Given the description of an element on the screen output the (x, y) to click on. 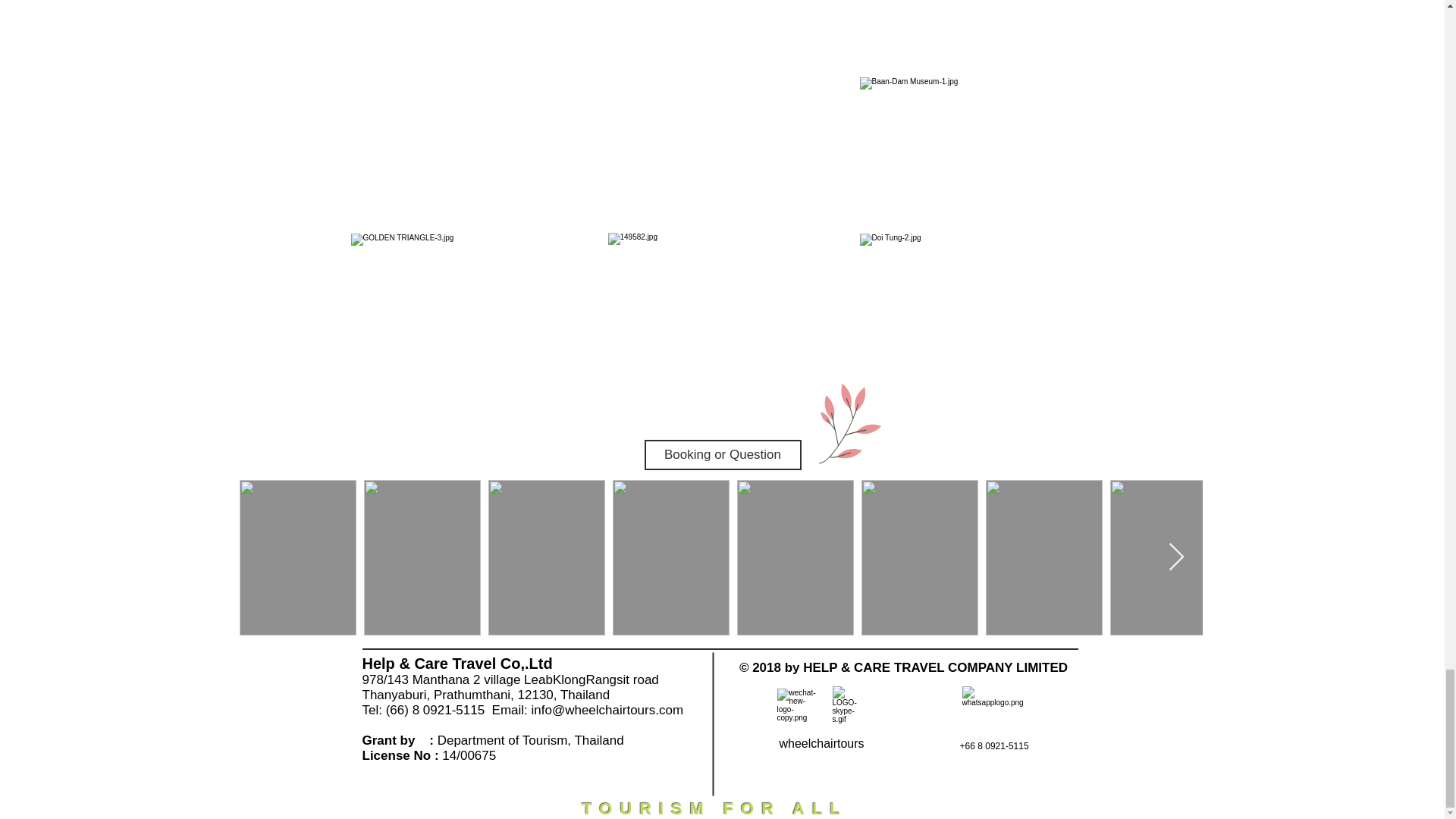
Department of Tourism, Thailand (531, 740)
Booking or Question (723, 454)
Grant by    :  (400, 740)
